Given the description of an element on the screen output the (x, y) to click on. 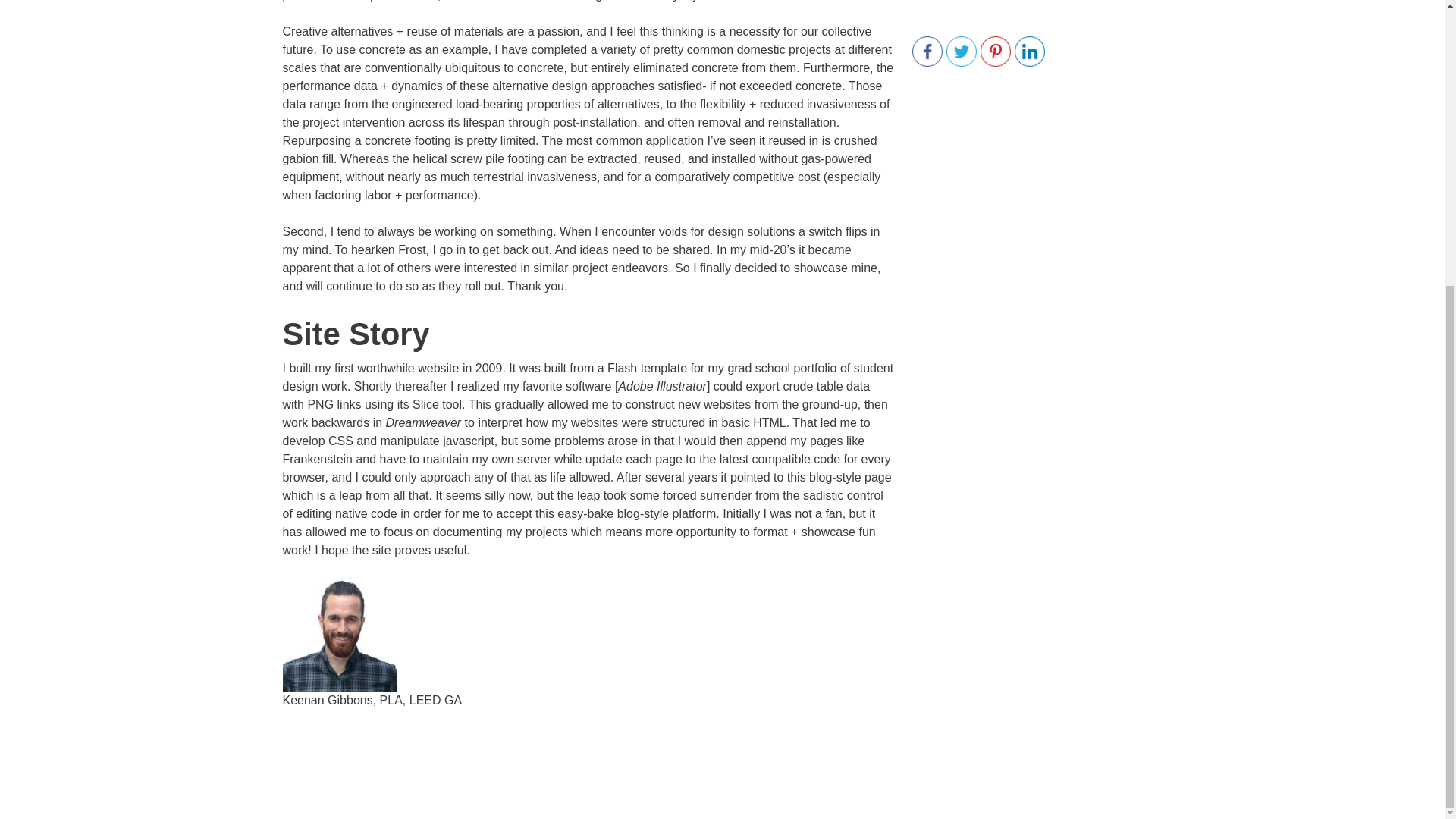
Pinterest (994, 51)
FACEBOOK (926, 51)
LinkedIn (1029, 51)
Twitter (961, 51)
